Given the description of an element on the screen output the (x, y) to click on. 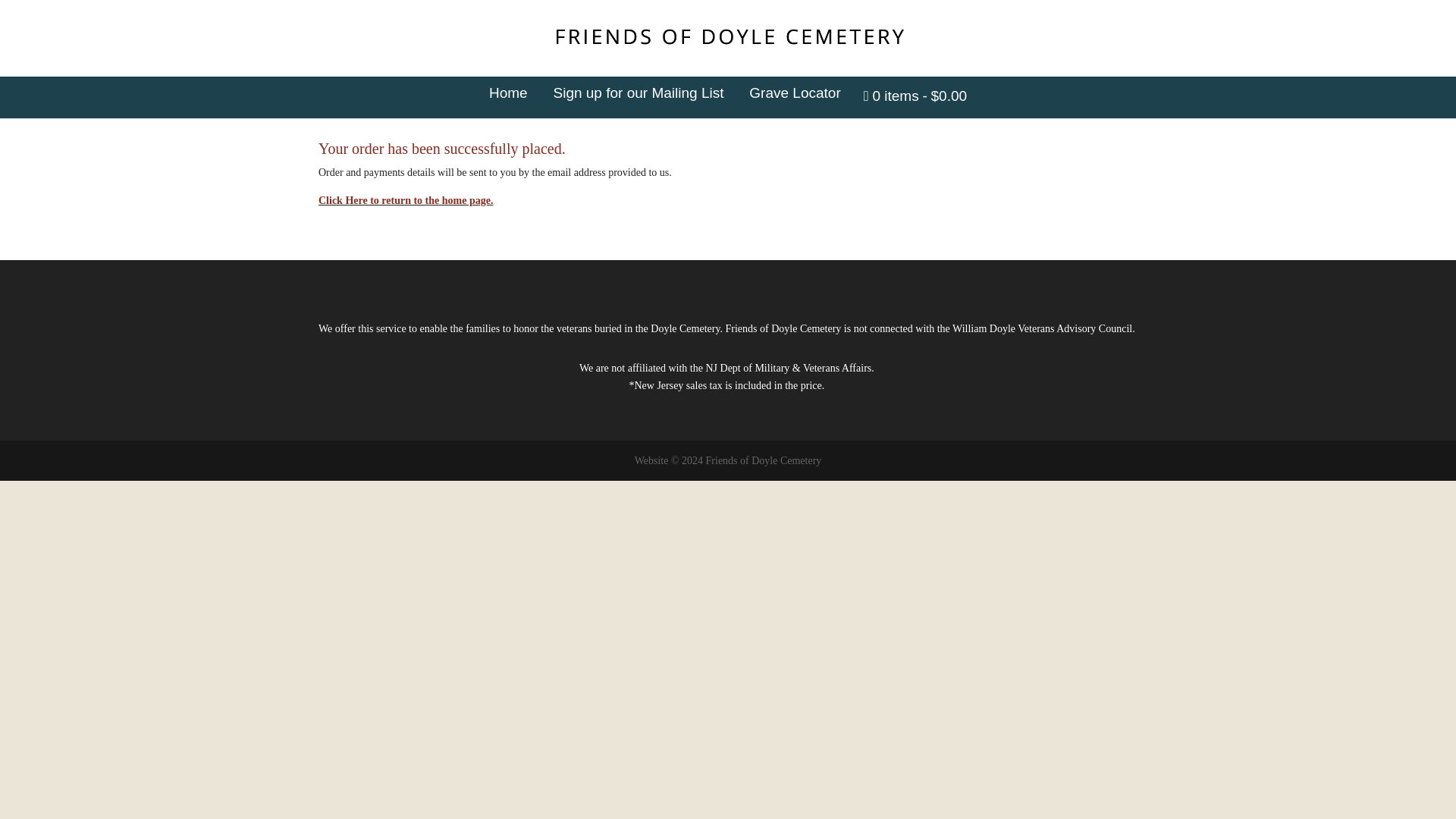
Start shopping (914, 96)
Sign up for our Mailing List (638, 94)
Grave Locator (794, 94)
Click Here to return to the home page. (405, 200)
Home (507, 94)
